Given the description of an element on the screen output the (x, y) to click on. 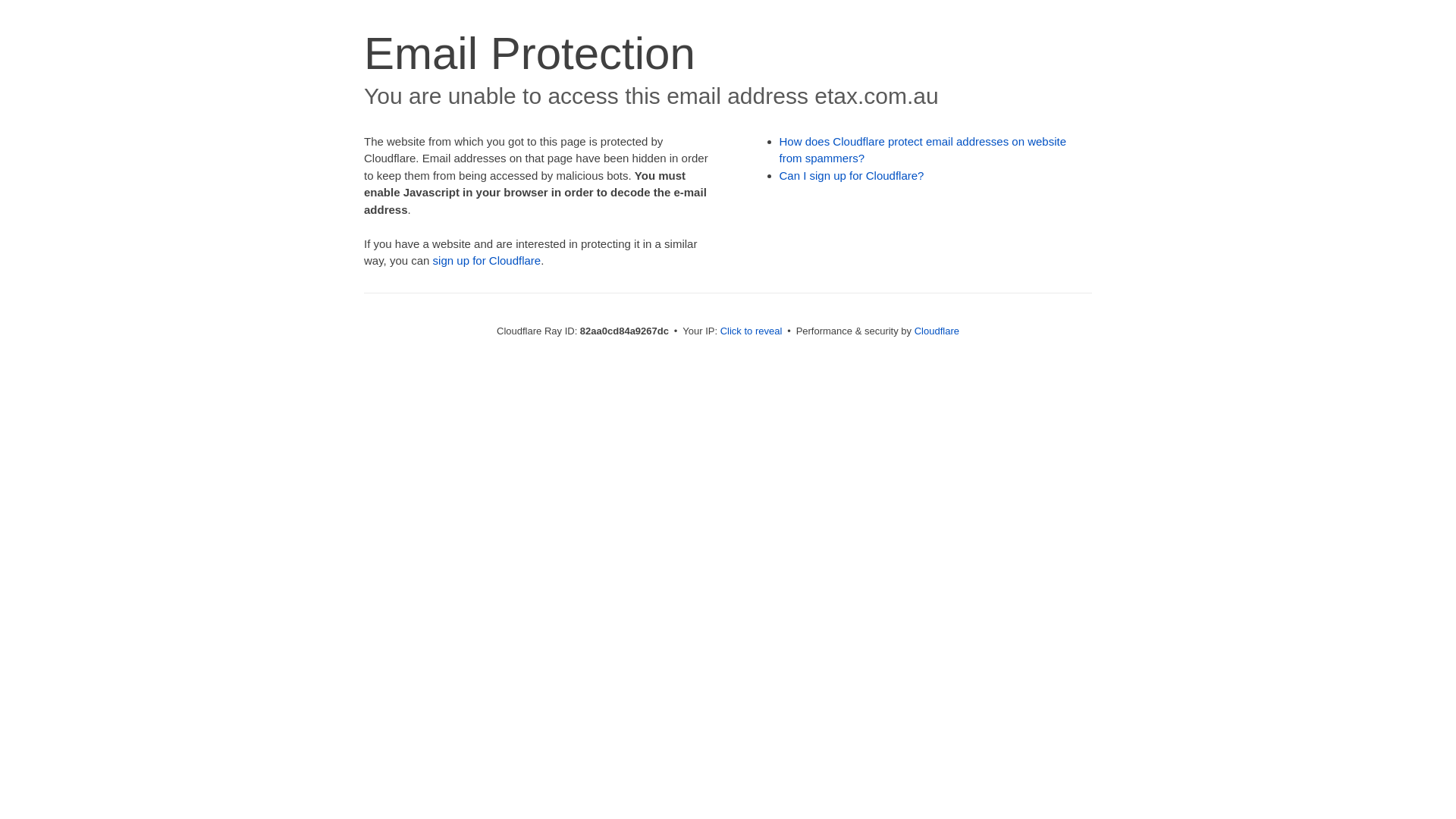
Click to reveal Element type: text (751, 330)
Cloudflare Element type: text (936, 330)
Can I sign up for Cloudflare? Element type: text (851, 175)
sign up for Cloudflare Element type: text (487, 260)
